Given the description of an element on the screen output the (x, y) to click on. 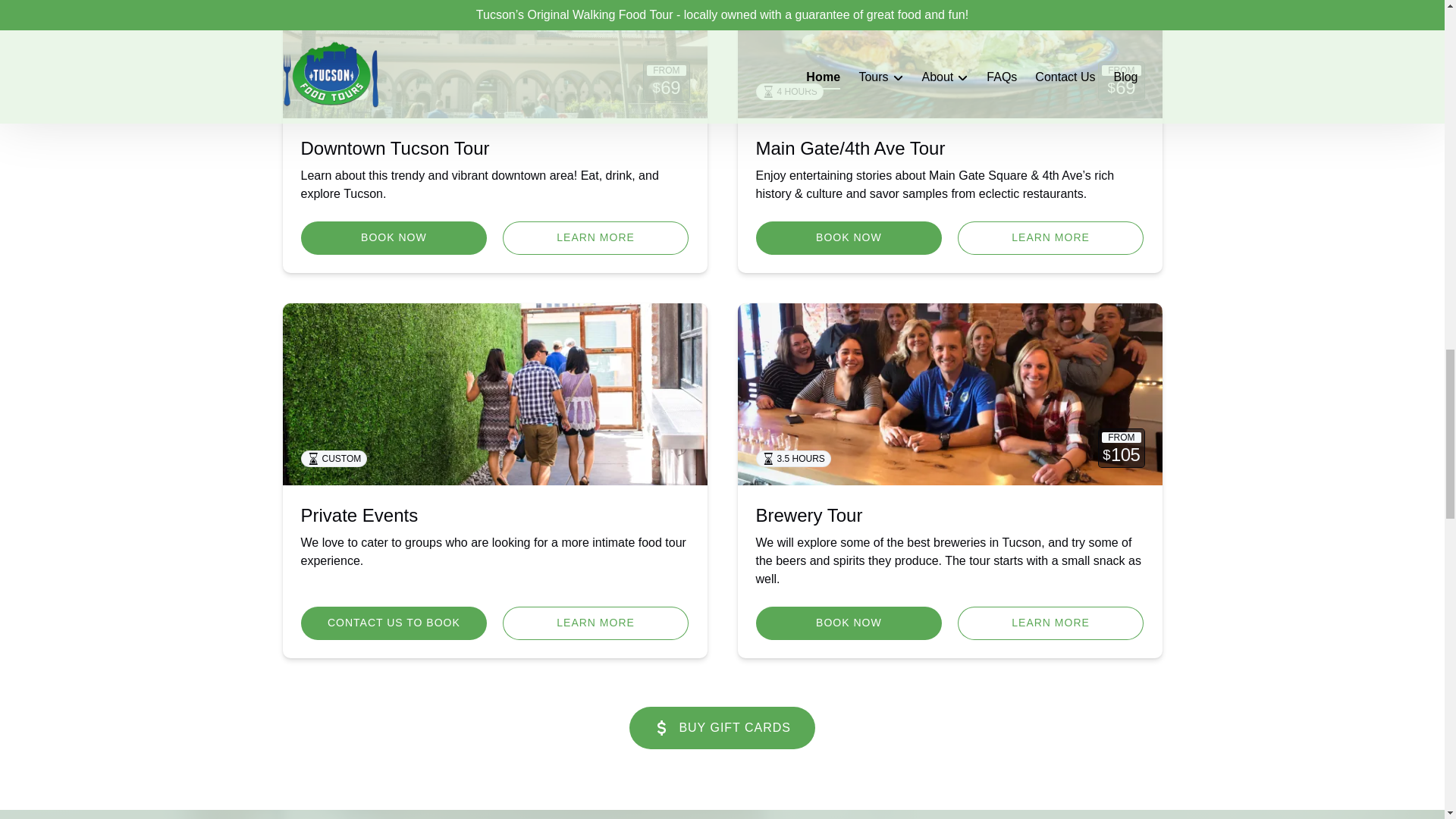
LEARN MORE (1051, 237)
BOOK NOW (392, 237)
DOLLAR (660, 727)
LEARN MORE (595, 237)
BOOK NOW (848, 237)
CUSTOM (494, 394)
Downtown Tucson Tour (394, 148)
